Given the description of an element on the screen output the (x, y) to click on. 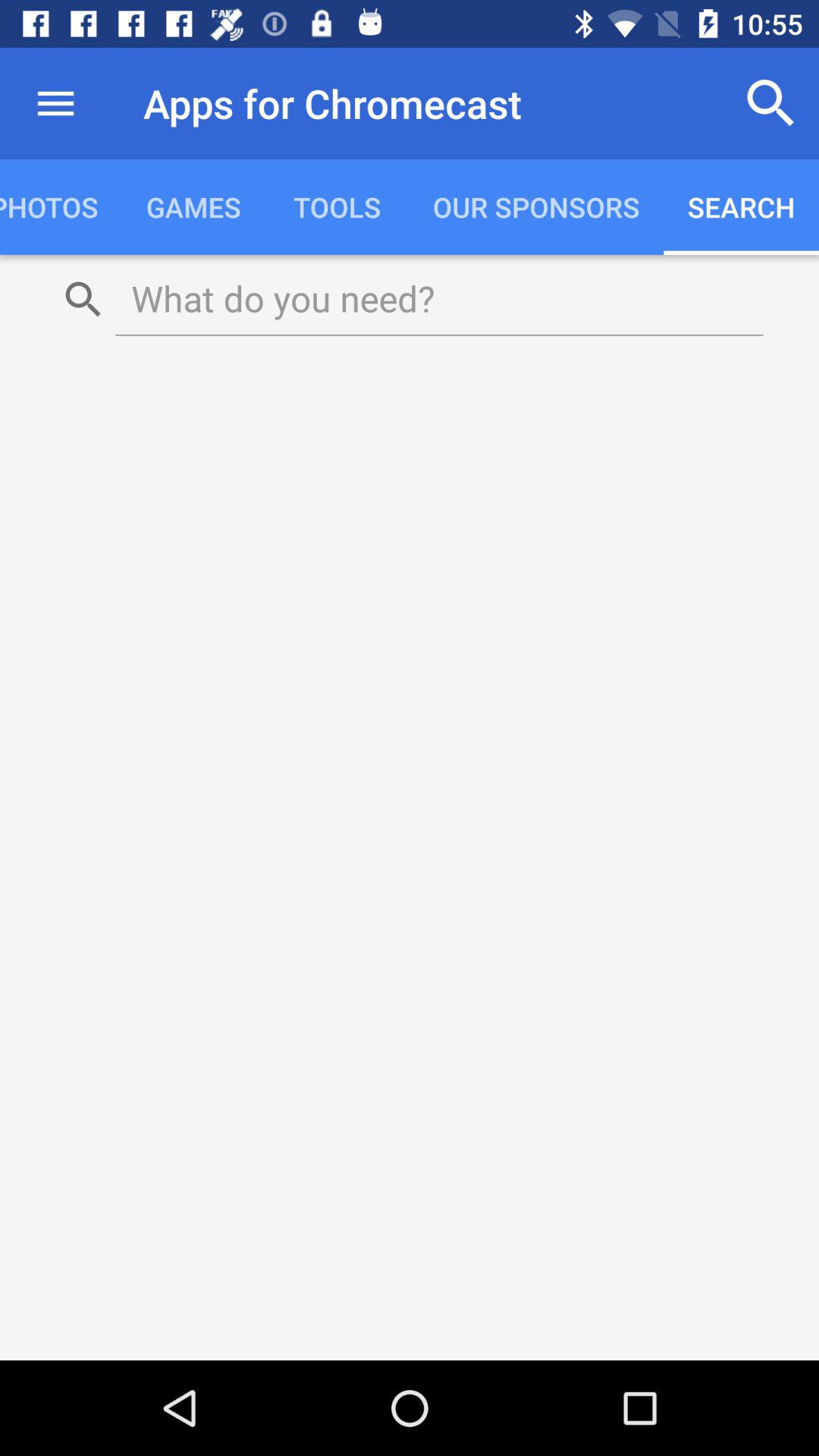
choose icon below games item (439, 298)
